Given the description of an element on the screen output the (x, y) to click on. 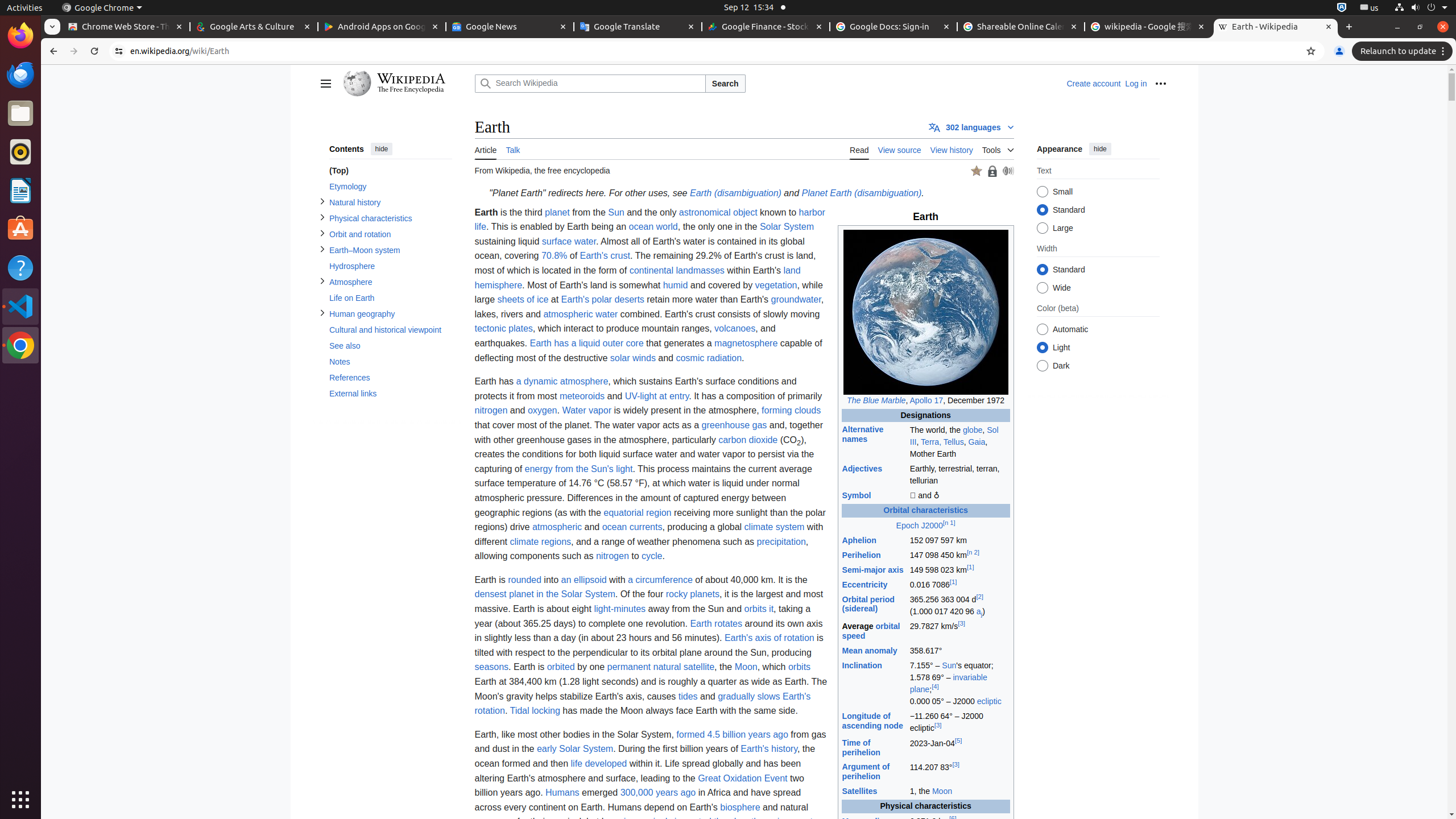
orbits Element type: link (799, 667)
UV-light at entry Element type: link (656, 395)
[n 1] Element type: link (948, 522)
rounded Element type: link (524, 579)
orbits it Element type: link (758, 609)
